Given the description of an element on the screen output the (x, y) to click on. 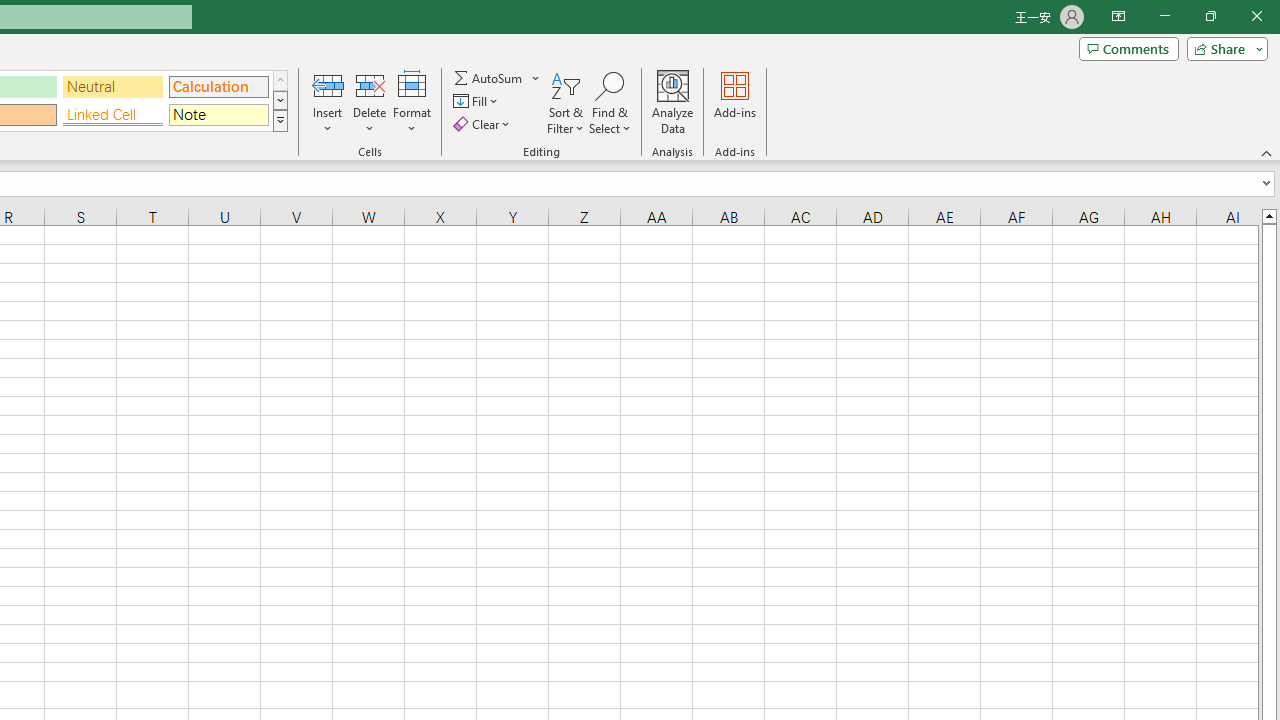
Sum (489, 78)
Delete (369, 102)
Analyze Data (673, 102)
Cell Styles (280, 120)
Calculation (218, 86)
Format (411, 102)
AutoSum (497, 78)
